Given the description of an element on the screen output the (x, y) to click on. 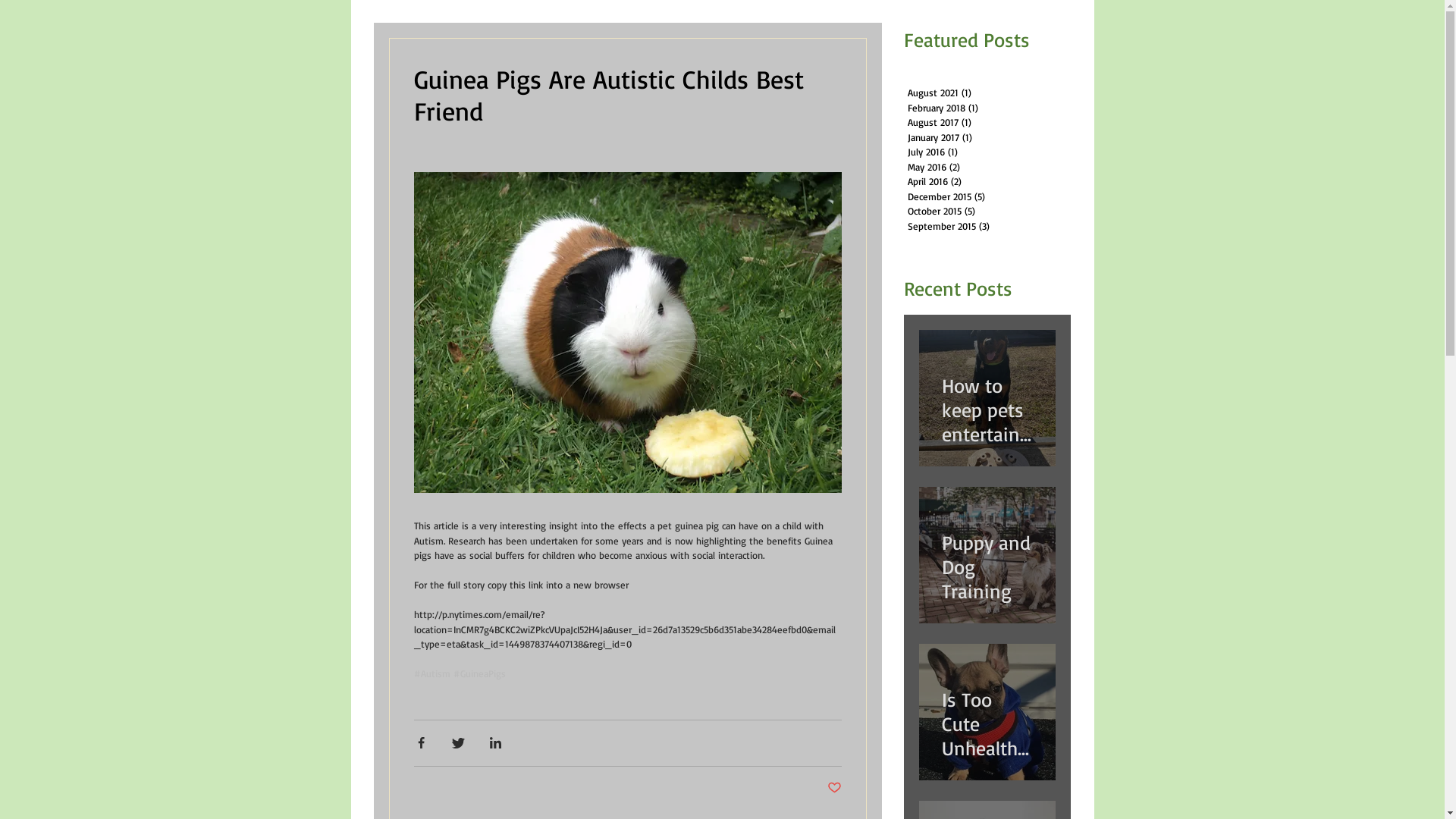
January 2017 (1) Element type: text (986, 137)
Puppy and Dog Training Element type: text (986, 559)
How to keep pets entertained during lockdown Element type: text (986, 402)
Is Too Cute Unhealthy? Element type: text (986, 716)
April 2016 (2) Element type: text (986, 181)
July 2016 (1) Element type: text (986, 152)
Post not marked as liked Element type: text (833, 787)
August 2021 (1) Element type: text (986, 92)
December 2015 (5) Element type: text (986, 196)
February 2018 (1) Element type: text (986, 108)
August 2017 (1) Element type: text (986, 122)
September 2015 (3) Element type: text (986, 226)
May 2016 (2) Element type: text (986, 167)
#GuineaPigs Element type: text (479, 673)
October 2015 (5) Element type: text (986, 211)
#Autism Element type: text (432, 673)
